Given the description of an element on the screen output the (x, y) to click on. 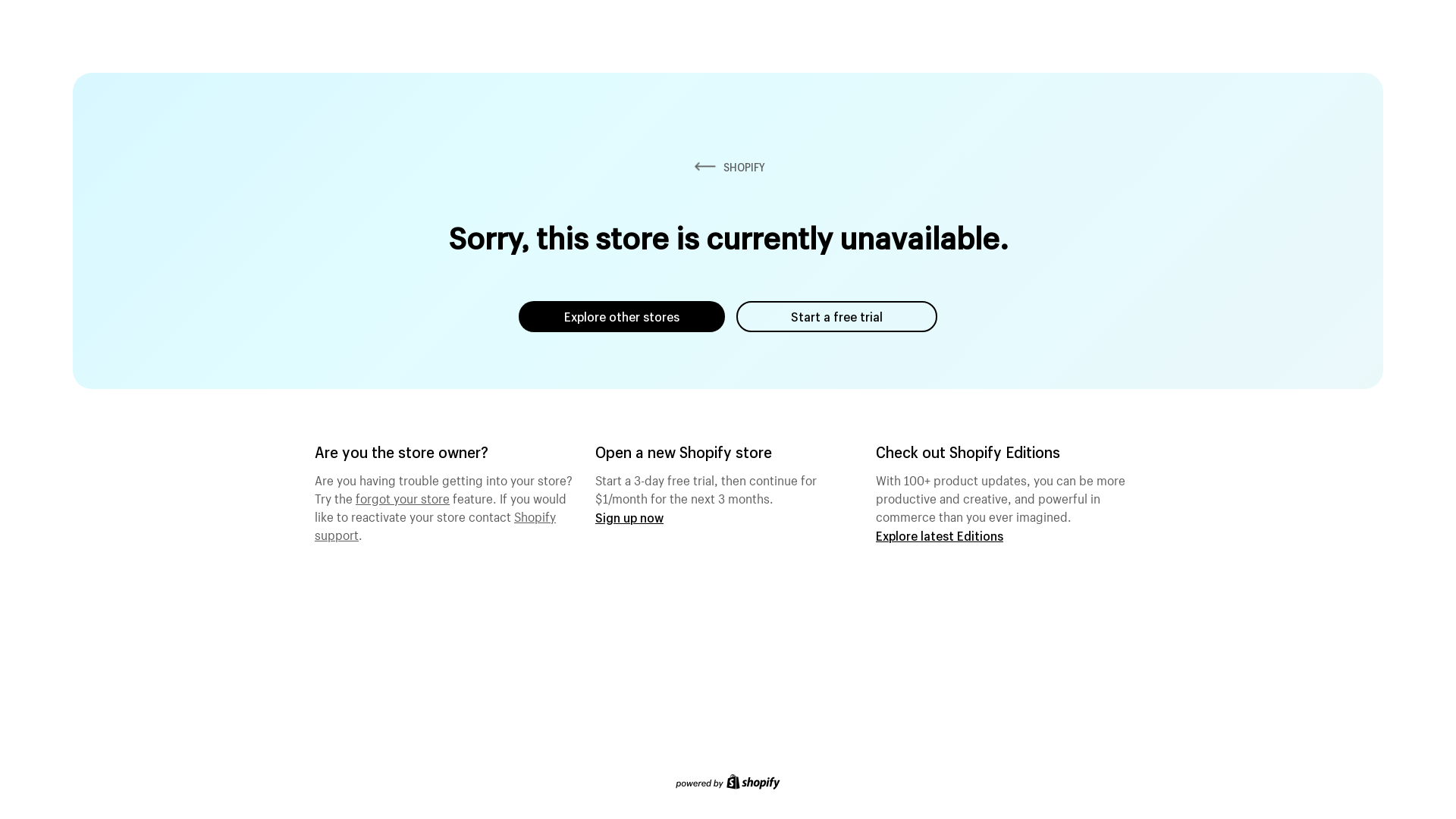
Shopify support Element type: text (434, 523)
Sign up now Element type: text (629, 517)
Explore latest Editions Element type: text (939, 535)
SHOPIFY Element type: text (727, 167)
Explore other stores Element type: text (621, 316)
forgot your store Element type: text (402, 496)
Start a free trial Element type: text (836, 316)
